Given the description of an element on the screen output the (x, y) to click on. 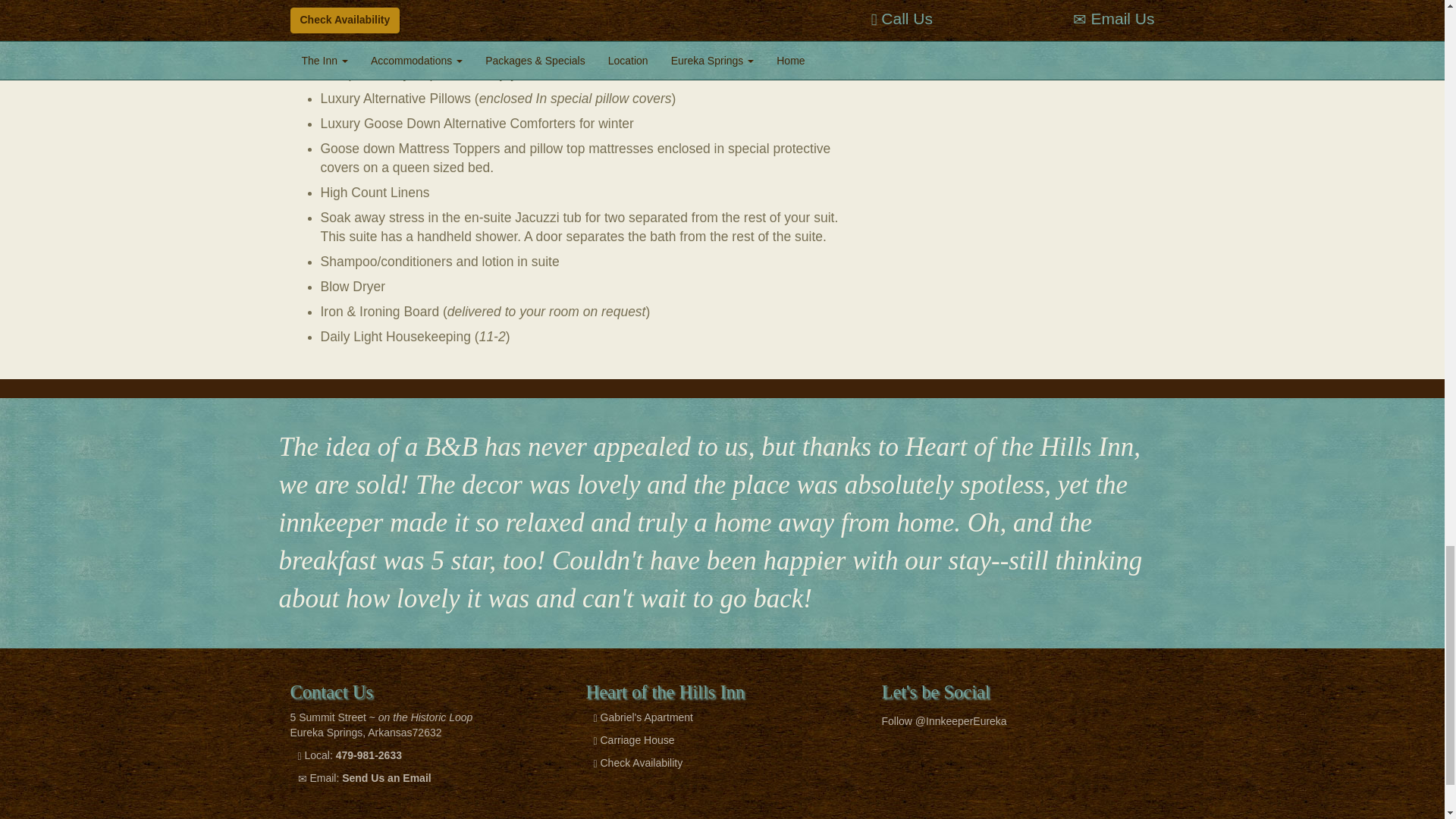
479-981-2633 (368, 755)
Check Availability (640, 762)
Carriage House (637, 739)
Gabriel's Apartment (646, 717)
Send Us an Email (386, 777)
